Given the description of an element on the screen output the (x, y) to click on. 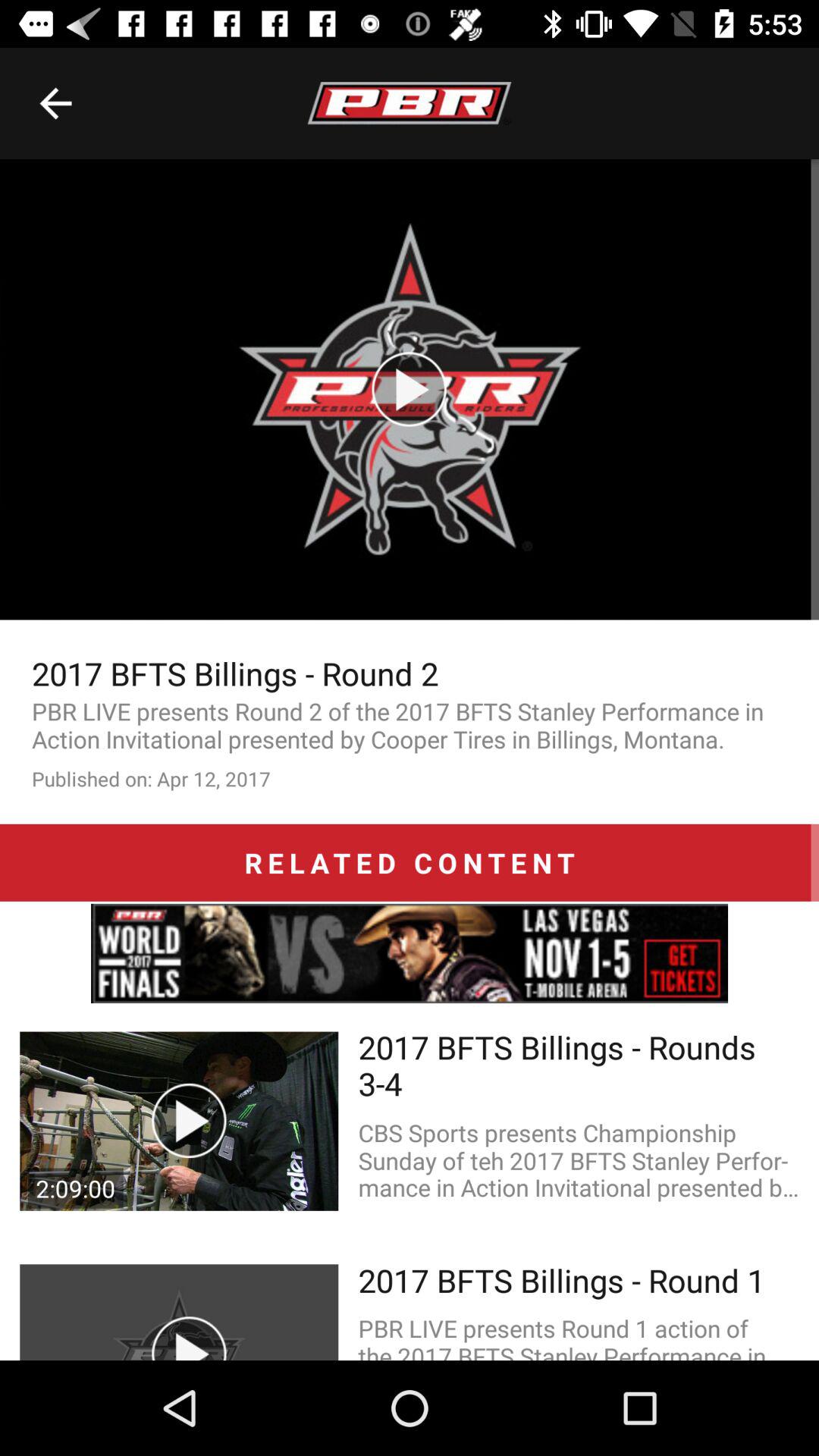
advertisement (409, 953)
